Given the description of an element on the screen output the (x, y) to click on. 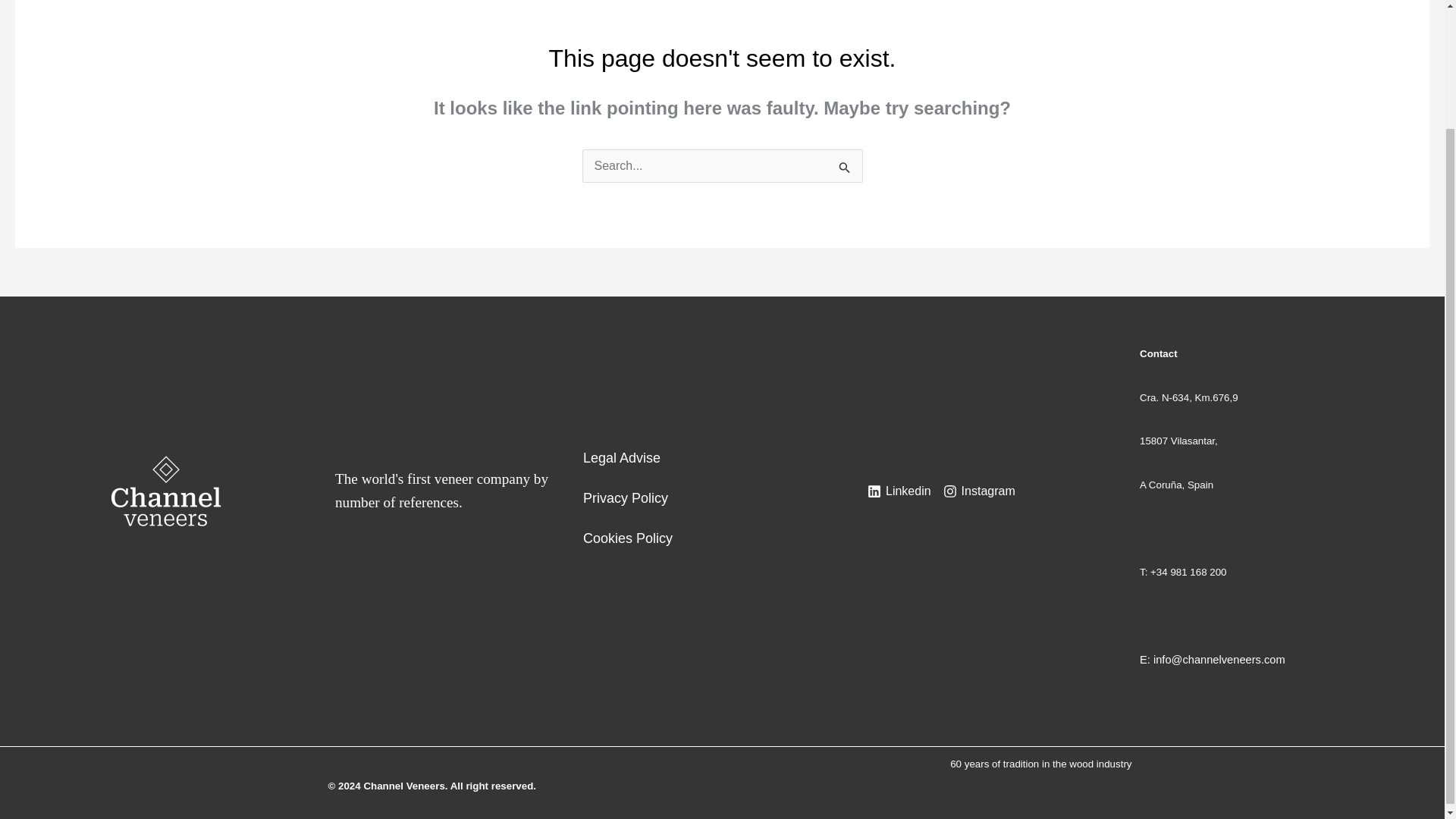
Privacy Policy (625, 490)
Linkedin (899, 491)
Instagram (979, 491)
Cookies Policy (627, 531)
Legal Advise (622, 449)
